Given the description of an element on the screen output the (x, y) to click on. 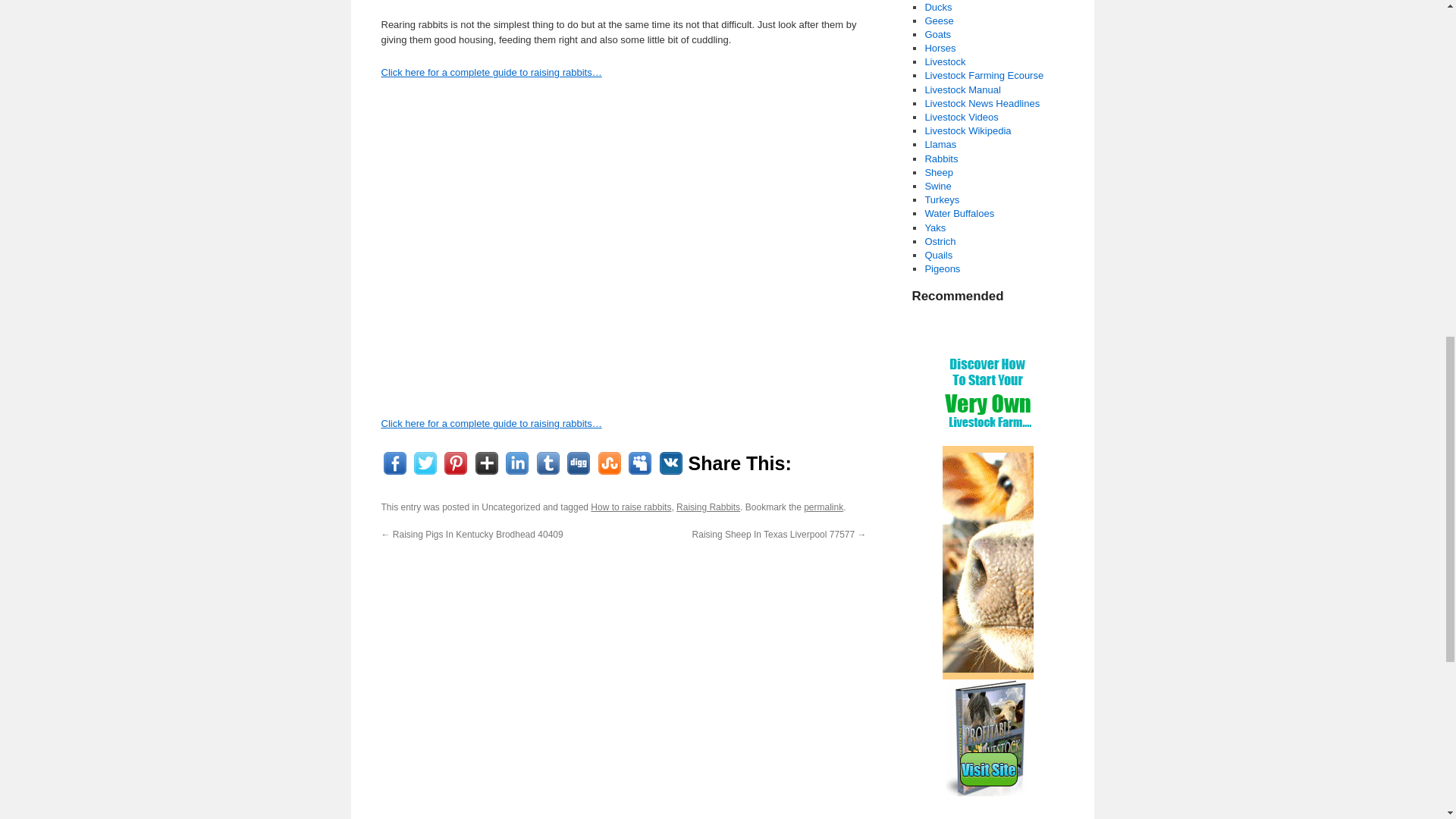
How to raise rabbits (631, 507)
permalink (823, 507)
Raising Rabbits (708, 507)
